Given the description of an element on the screen output the (x, y) to click on. 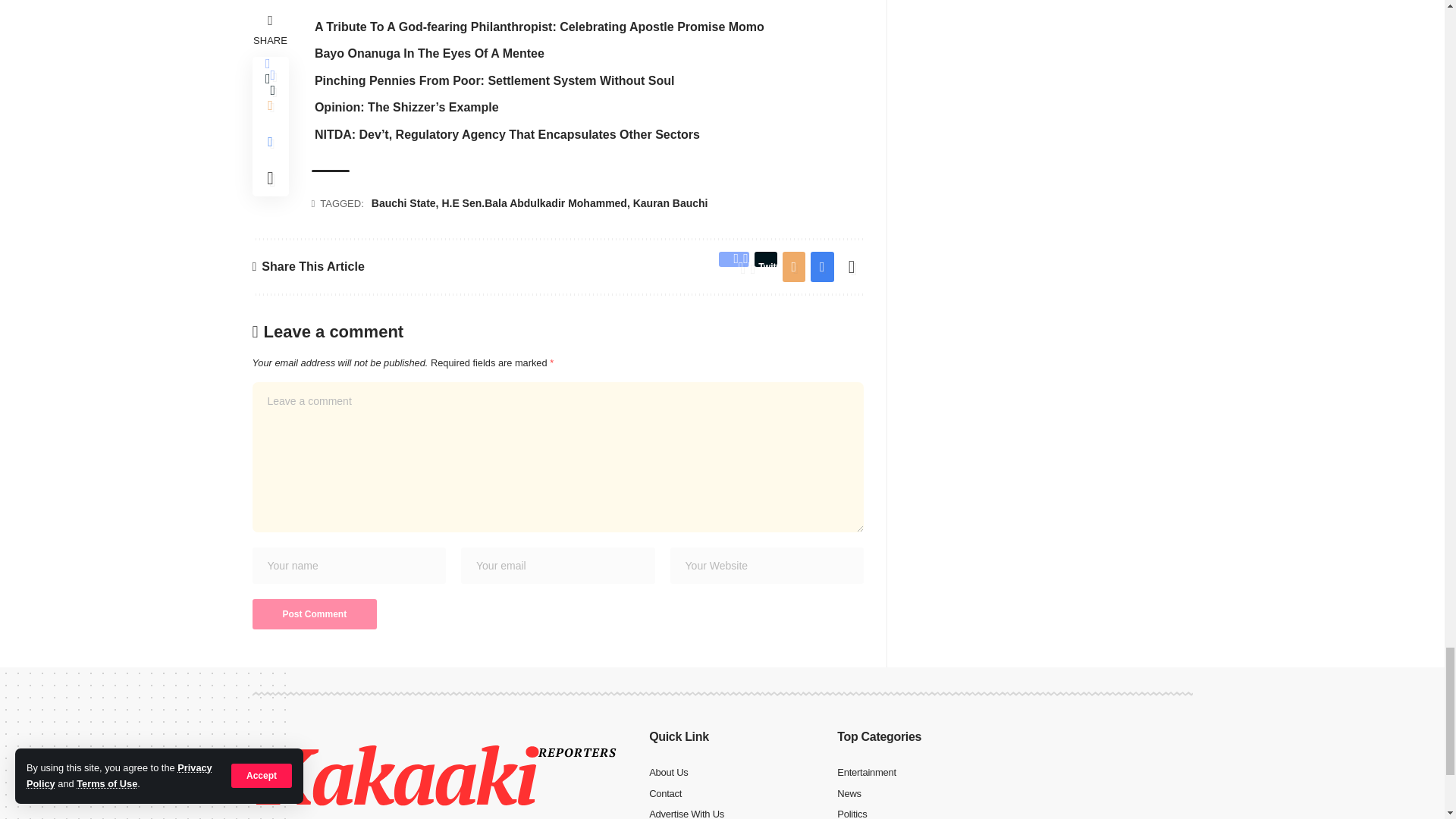
Post Comment (314, 613)
